Given the description of an element on the screen output the (x, y) to click on. 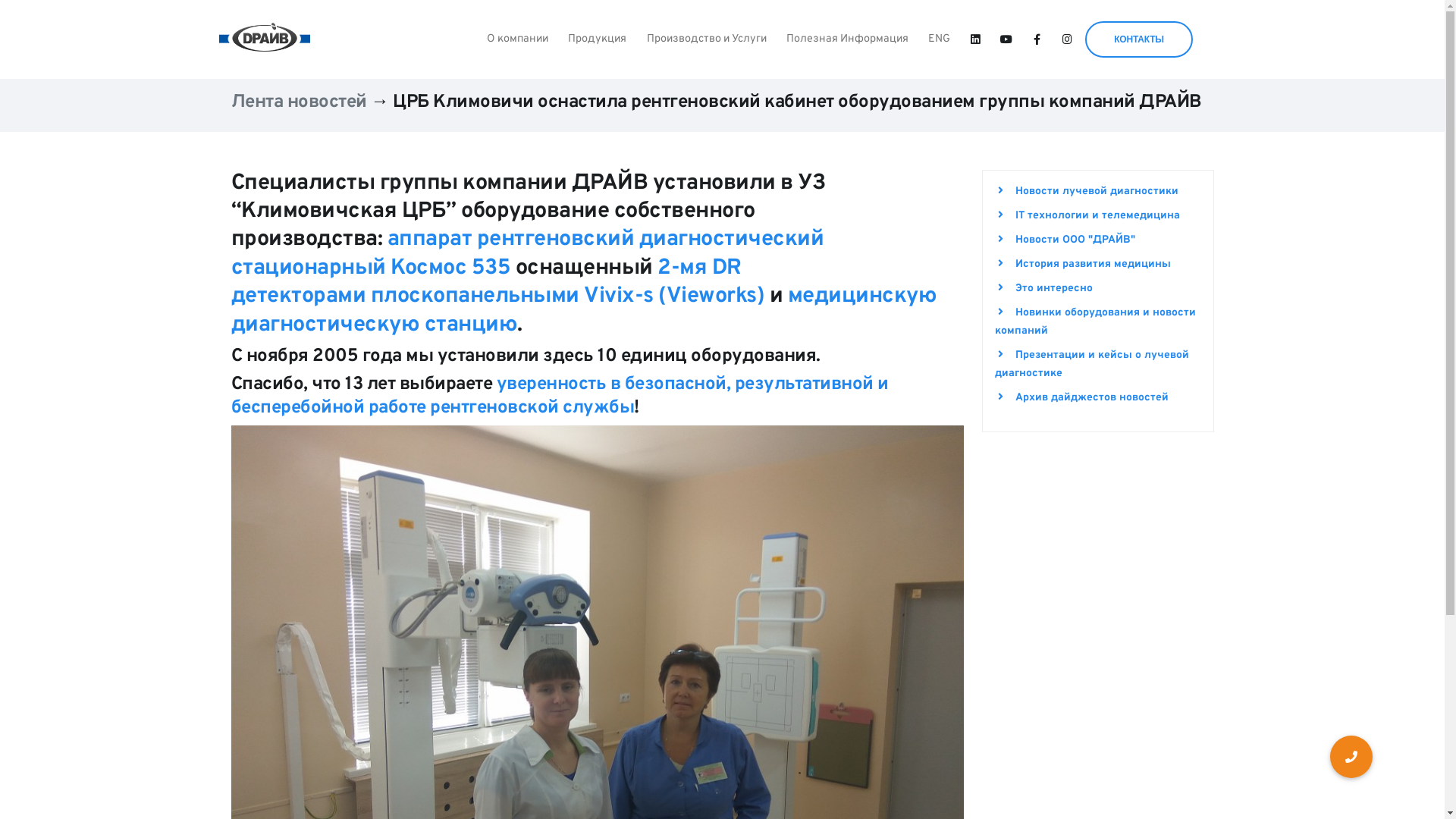
LinkedIn Element type: hover (975, 40)
Facebook Element type: hover (1036, 40)
YouTube Element type: hover (1005, 40)
Instagram Element type: hover (1067, 40)
ENG Element type: text (939, 39)
